Given the description of an element on the screen output the (x, y) to click on. 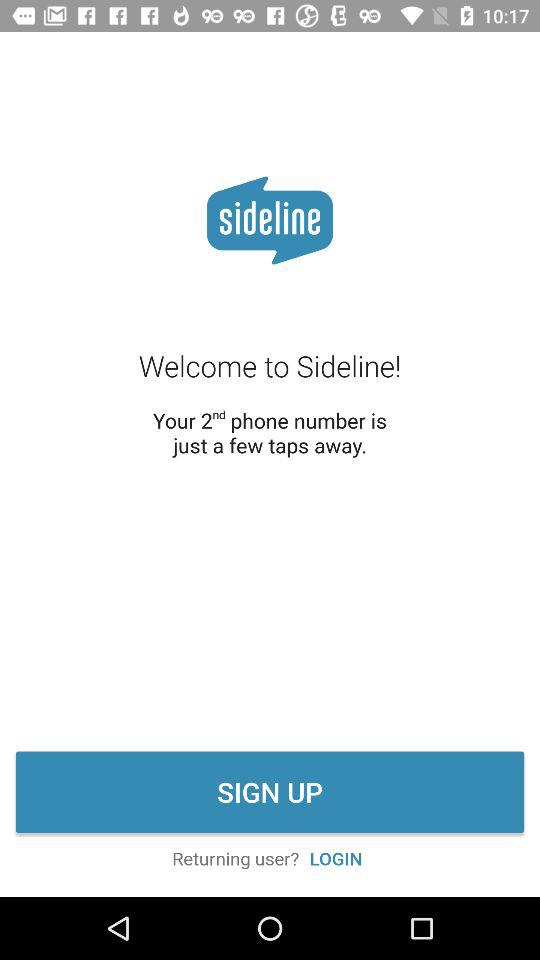
select icon to the right of returning user? (335, 858)
